Given the description of an element on the screen output the (x, y) to click on. 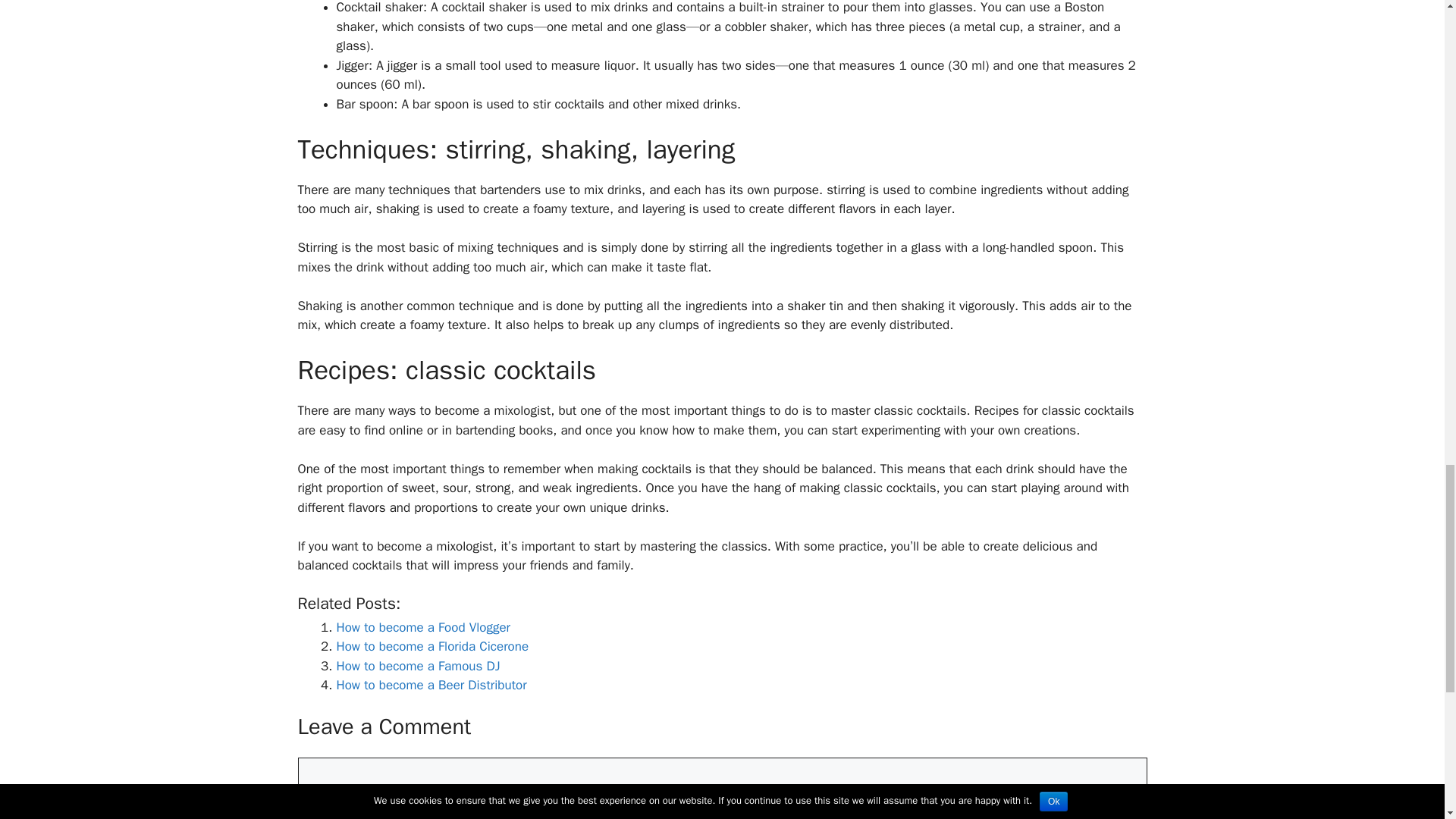
How to become a Famous DJ (418, 666)
How to become a Florida Cicerone (432, 646)
How to become a Beer Distributor (431, 684)
How to become a Food Vlogger (423, 627)
How to become a Beer Distributor (431, 684)
How to become a Famous DJ (418, 666)
How to become a Food Vlogger (423, 627)
How to become a Florida Cicerone (432, 646)
